Given the description of an element on the screen output the (x, y) to click on. 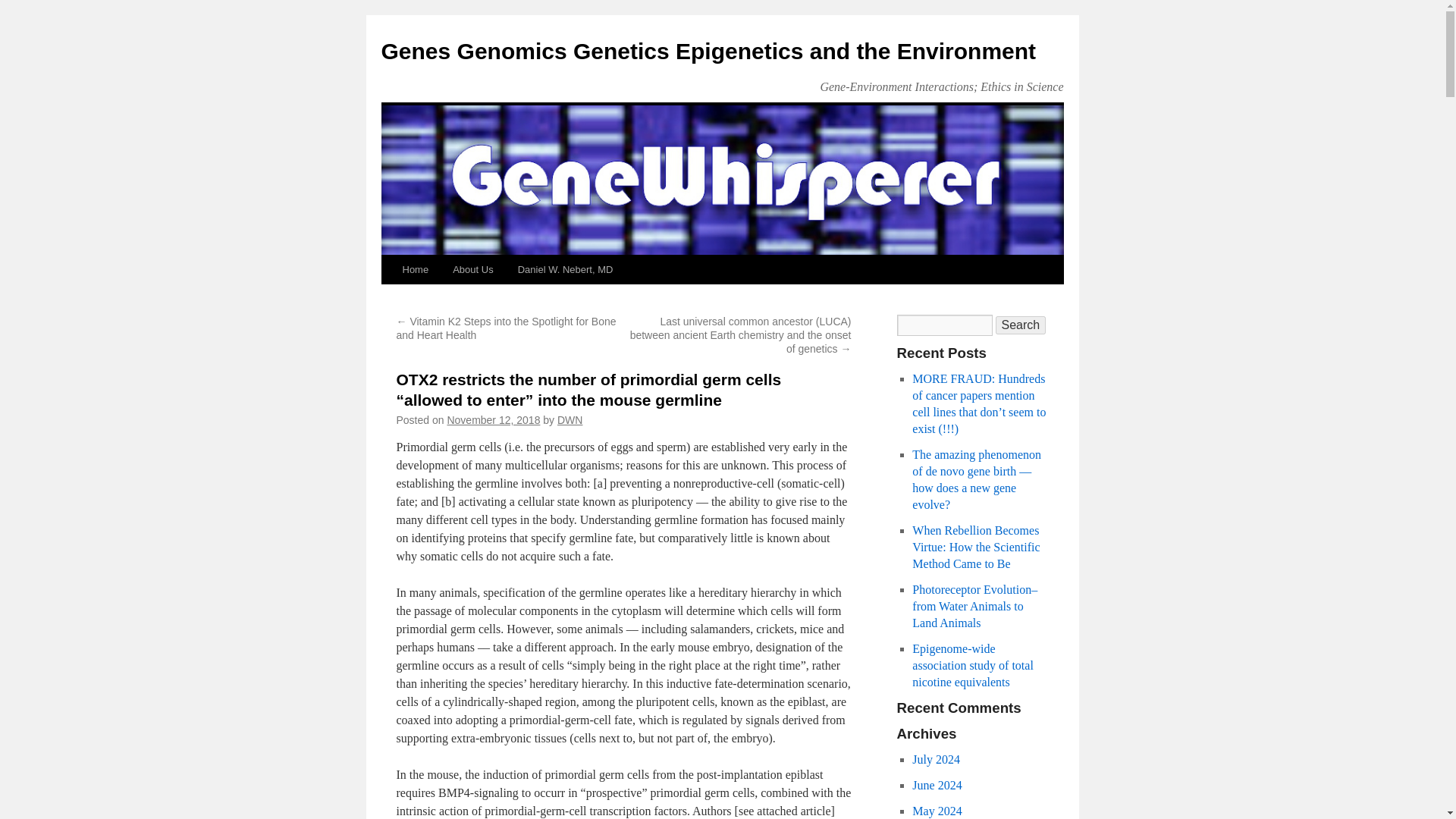
Genes Genomics Genetics Epigenetics and the Environment (707, 50)
July 2024 (935, 758)
View all posts by DWN (569, 419)
Search (1019, 325)
May 2024 (936, 810)
November 12, 2018 (493, 419)
Search (1019, 325)
Home (415, 269)
